Given the description of an element on the screen output the (x, y) to click on. 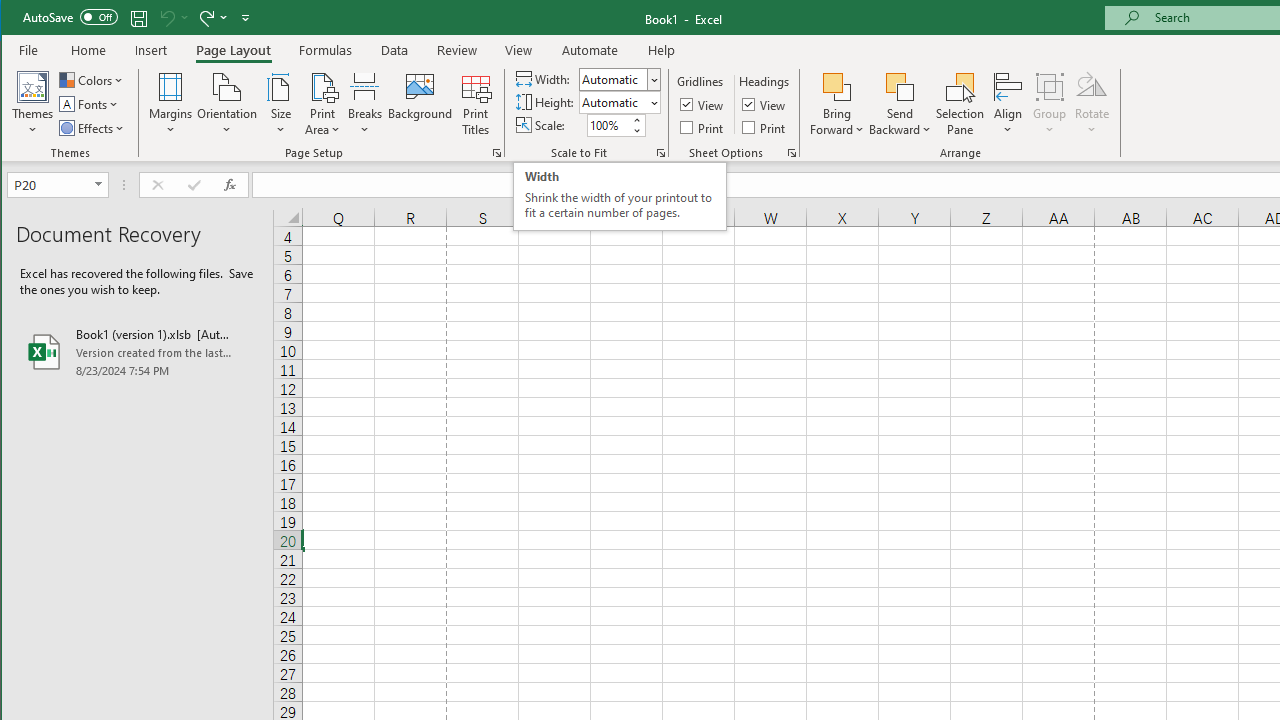
Width (612, 79)
Align (1007, 104)
Orientation (226, 104)
Scale (607, 125)
Width (619, 78)
Less (636, 130)
Rotate (1092, 104)
